Given the description of an element on the screen output the (x, y) to click on. 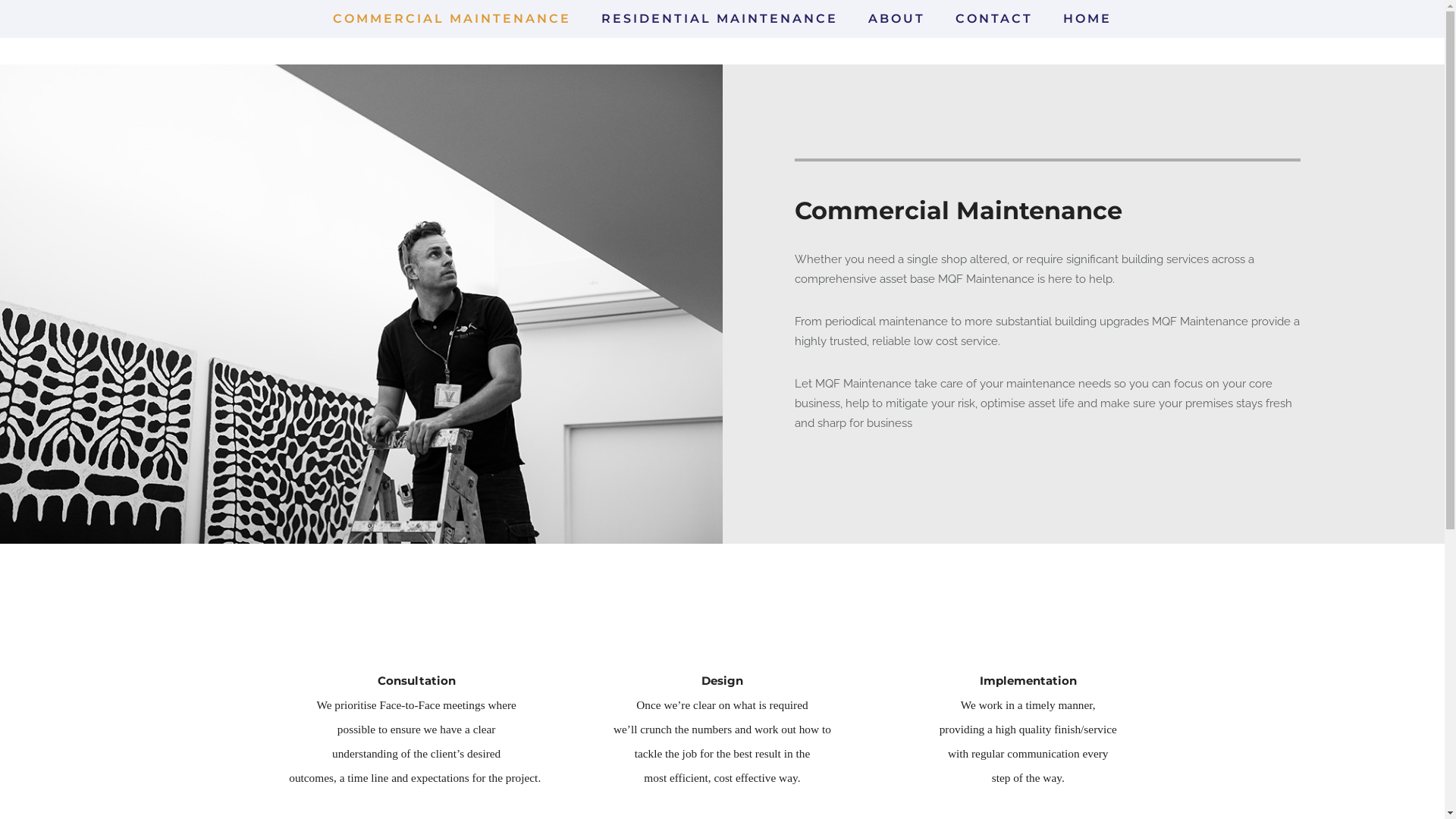
CONTACT Element type: text (994, 18)
COMMERCIAL MAINTENANCE Element type: text (451, 18)
RESIDENTIAL MAINTENANCE Element type: text (719, 18)
HOME Element type: text (1087, 18)
ABOUT Element type: text (896, 18)
